Given the description of an element on the screen output the (x, y) to click on. 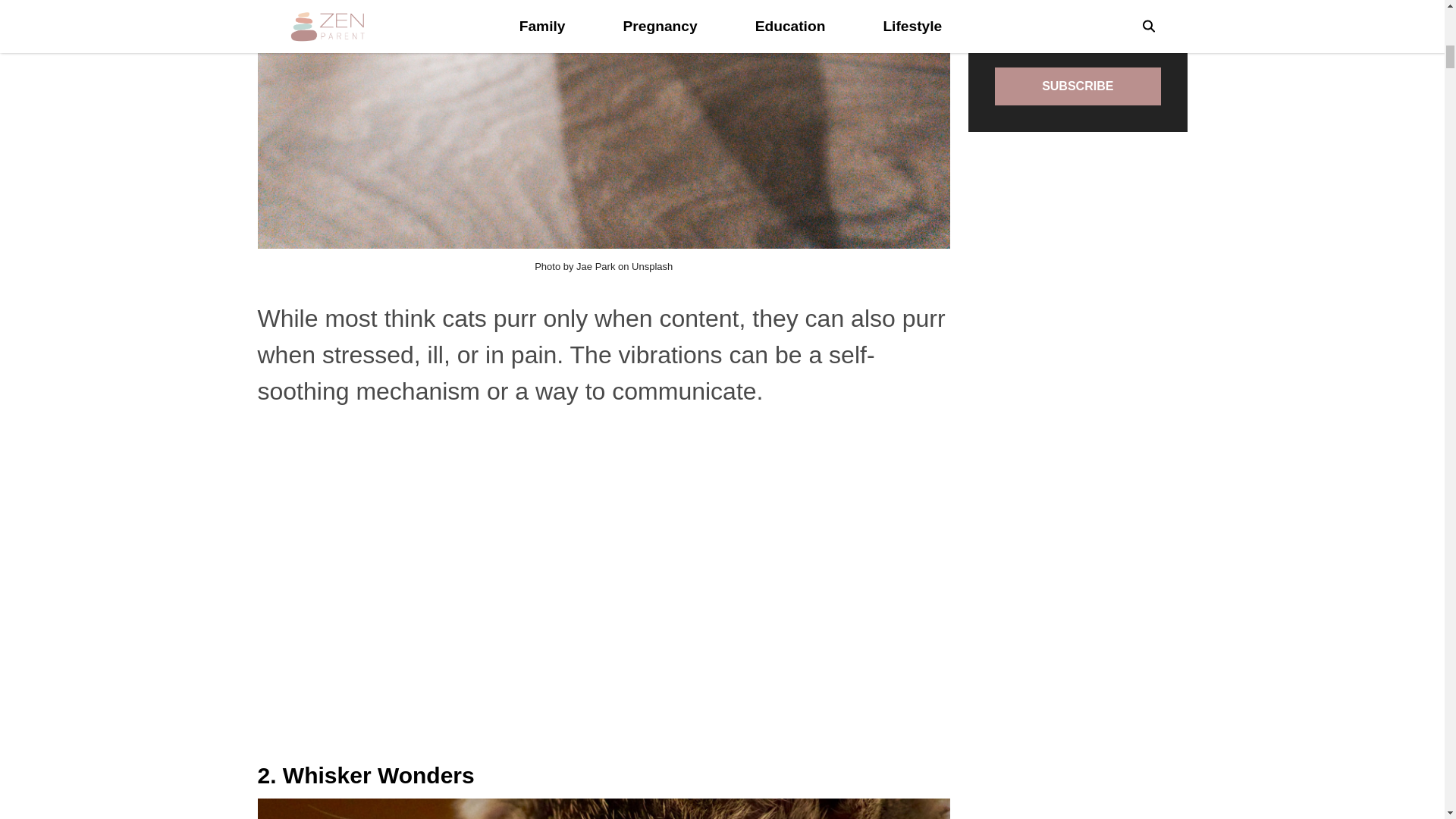
Photo by Jae Park on Unsplash (603, 266)
